Given the description of an element on the screen output the (x, y) to click on. 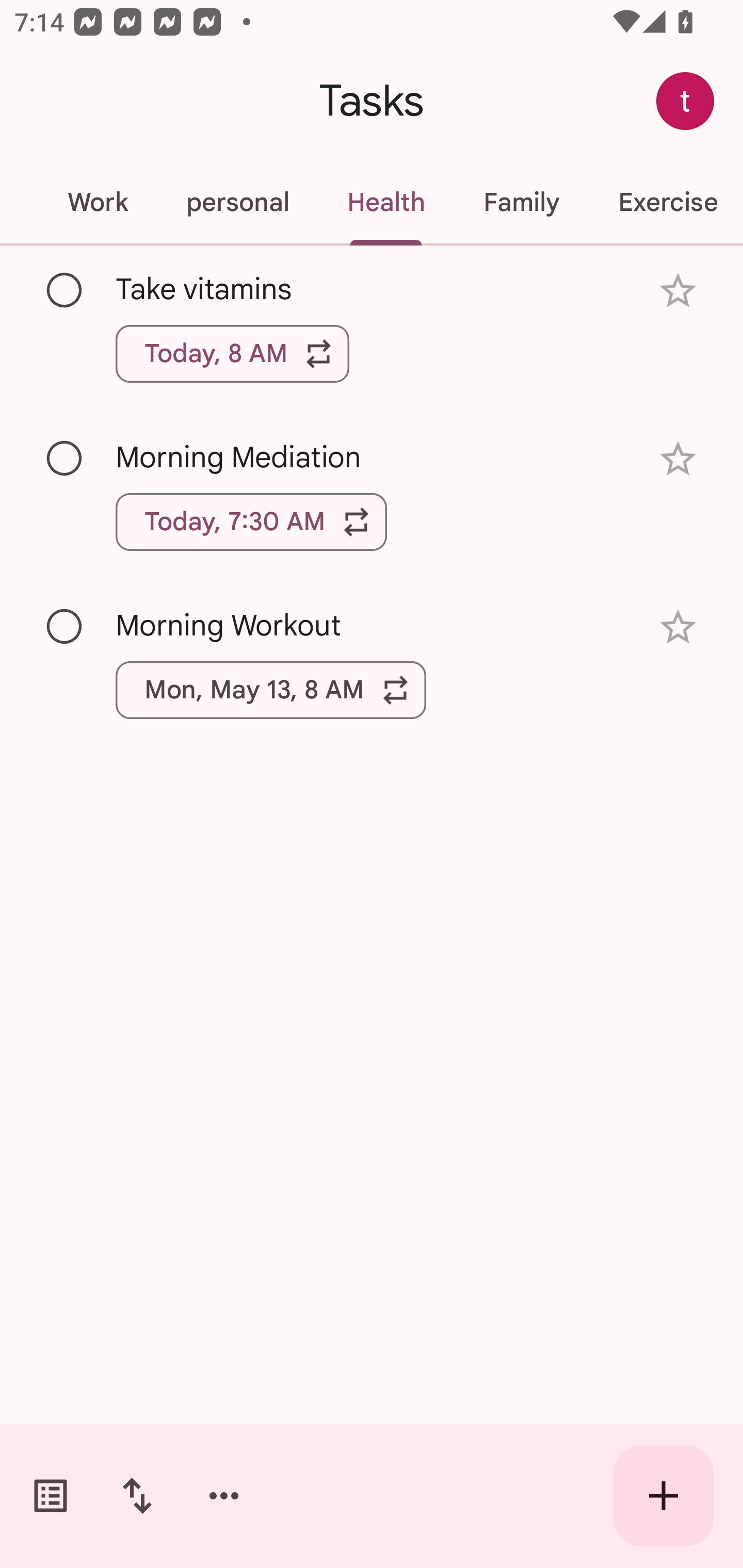
Work (96, 202)
personal (237, 202)
Family (520, 202)
Exercise (665, 202)
Add star (677, 290)
Mark as complete (64, 290)
Today, 8 AM (232, 353)
Add star (677, 458)
Mark as complete (64, 459)
Today, 7:30 AM (251, 522)
Add star (677, 627)
Mark as complete (64, 627)
Mon, May 13, 8 AM (270, 689)
Switch task lists (50, 1495)
Create new task (663, 1495)
Change sort order (136, 1495)
More options (223, 1495)
